Given the description of an element on the screen output the (x, y) to click on. 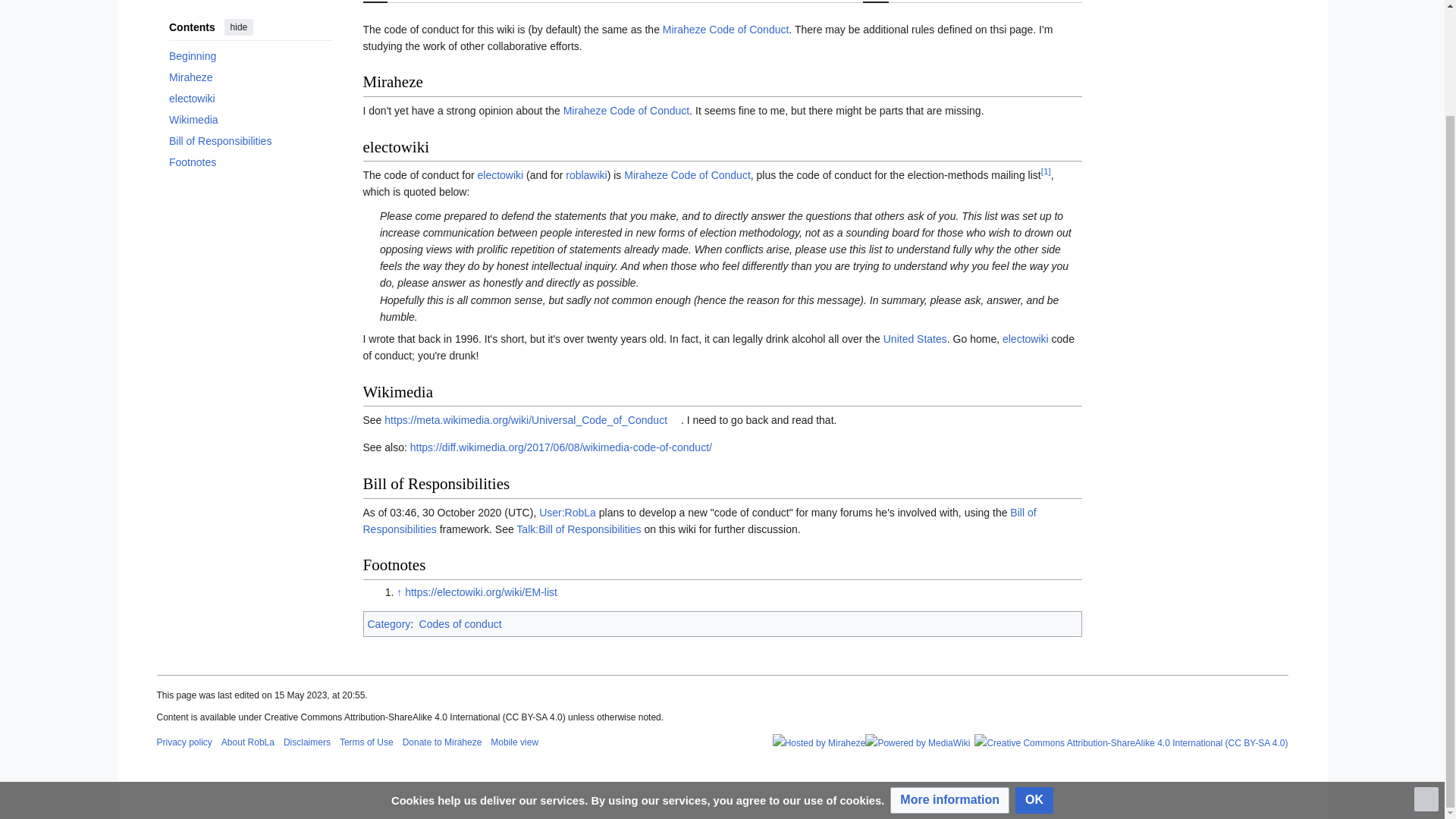
Page (374, 1)
Miraheze (249, 38)
Footnotes (249, 123)
Discussion (424, 1)
Wikimedia (249, 80)
Beginning (249, 16)
View history (999, 1)
Bill of Responsibilities (249, 102)
electowiki (249, 59)
Read (875, 1)
View source (929, 1)
